Given the description of an element on the screen output the (x, y) to click on. 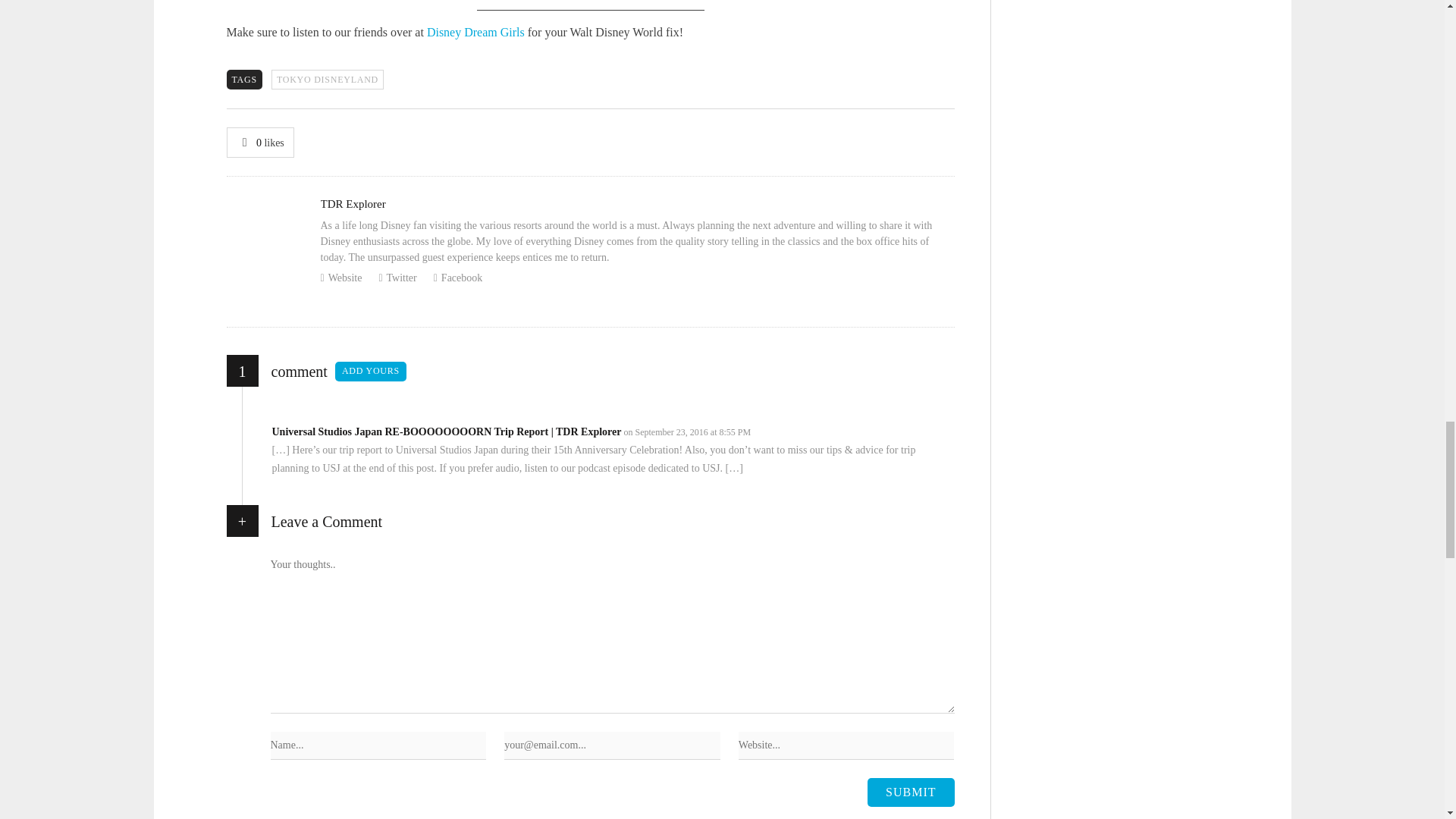
Submit (910, 792)
